Given the description of an element on the screen output the (x, y) to click on. 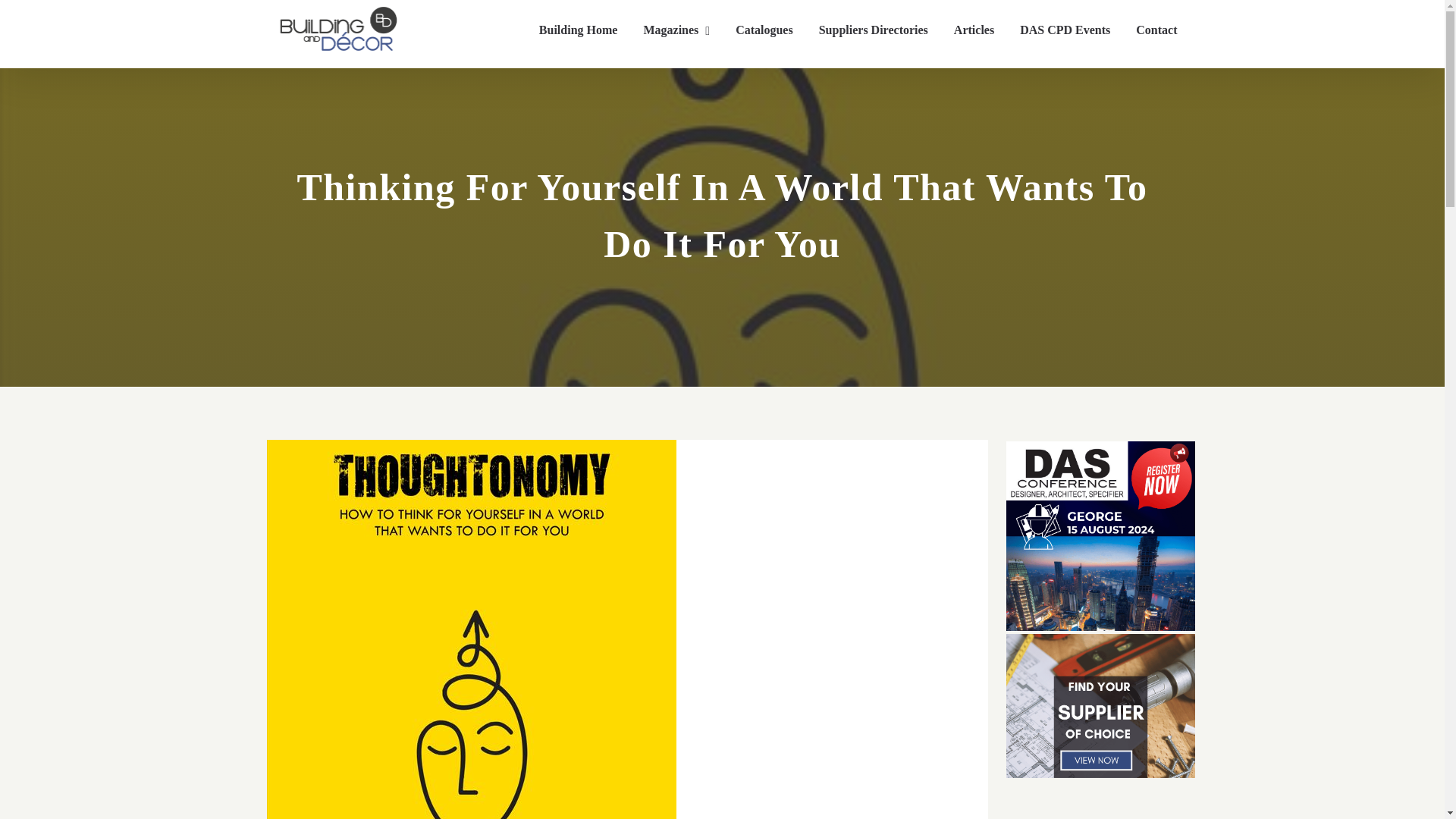
Building Home (577, 30)
Catalogues (764, 30)
Magazines (676, 30)
DAS CPD Events (1064, 30)
Suppliers Directories (873, 30)
